Given the description of an element on the screen output the (x, y) to click on. 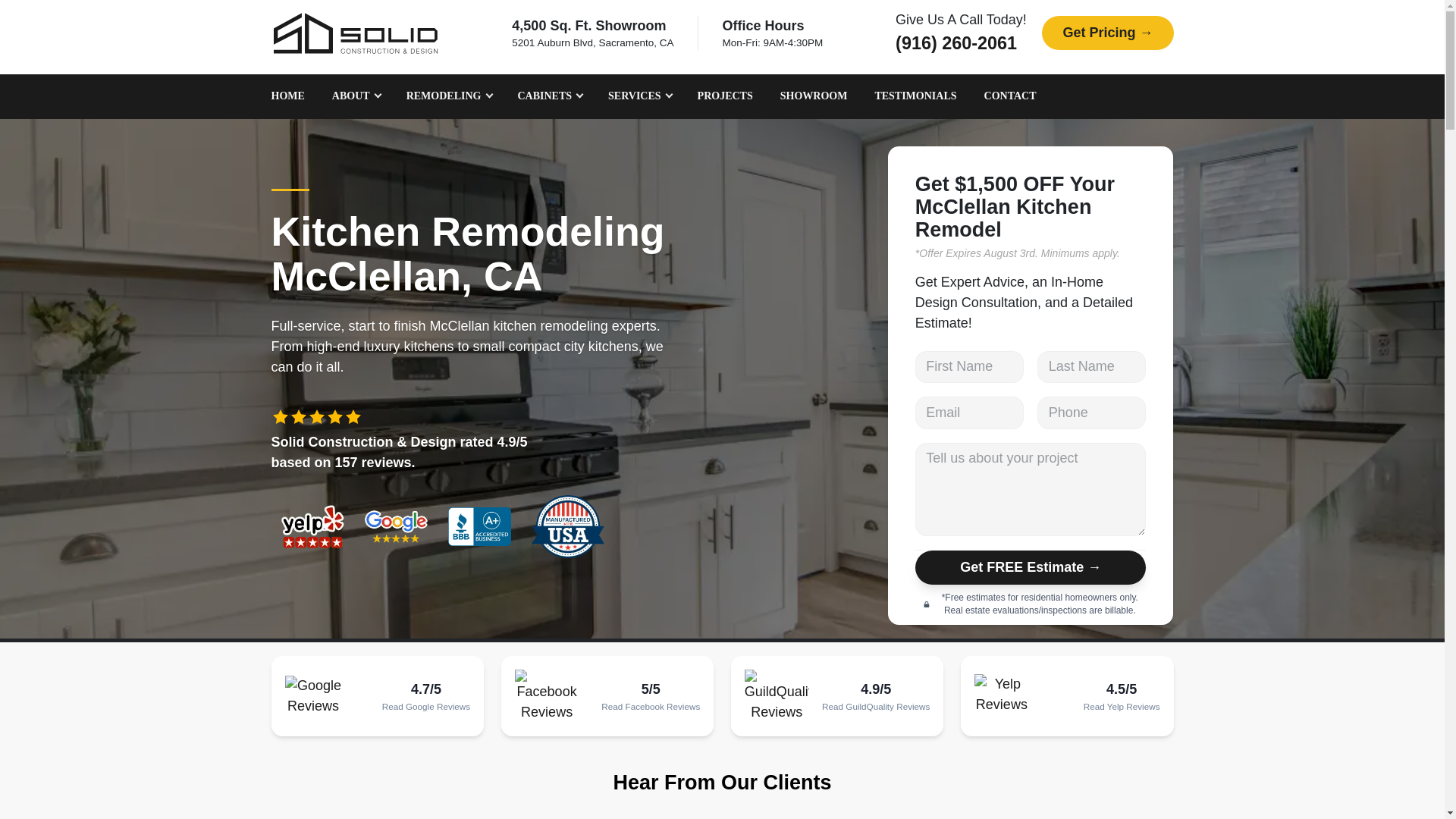
Solid Construction and Design Logo (354, 32)
Services (638, 96)
SHOWROOM (813, 96)
Cabinets (548, 96)
Solid Construction and Design Logo (354, 33)
Remodeling (448, 96)
ABOUT (354, 96)
TESTIMONIALS (915, 96)
PROJECTS (724, 96)
CABINETS (548, 96)
CONTACT (1010, 96)
REMODELING (448, 96)
About Us  (354, 96)
SERVICES (638, 96)
